Given the description of an element on the screen output the (x, y) to click on. 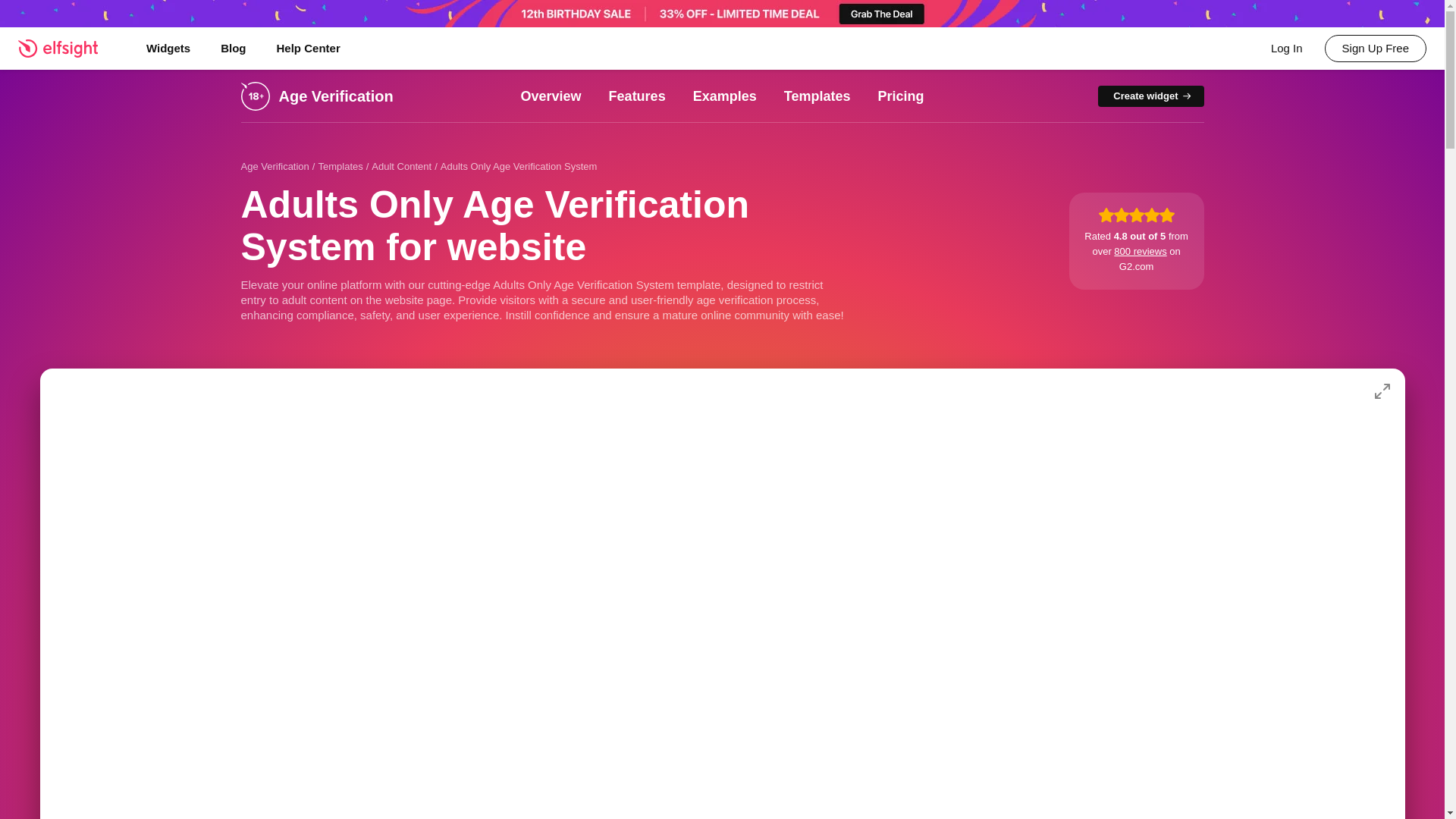
Elfsight - Premium Plugins For Websites (66, 48)
Widgets (168, 48)
Full Screen (1381, 390)
